Given the description of an element on the screen output the (x, y) to click on. 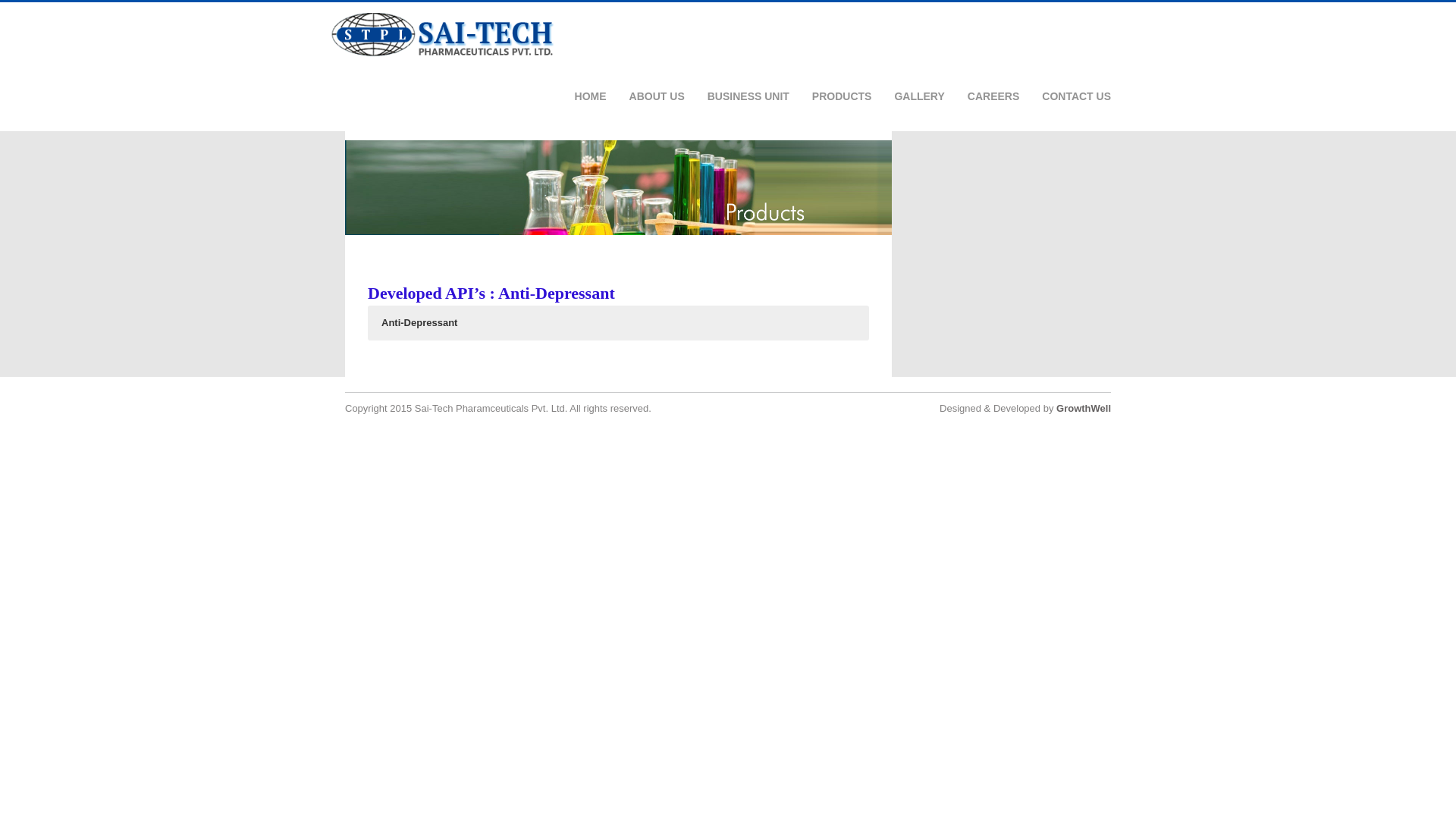
GALLERY (918, 96)
CAREERS (993, 96)
Saitech Pharmaceuticals (442, 54)
ABOUT US (656, 96)
HOME (591, 96)
BUSINESS UNIT (748, 96)
CONTACT US (1076, 96)
PRODUCTS (842, 96)
